Given the description of an element on the screen output the (x, y) to click on. 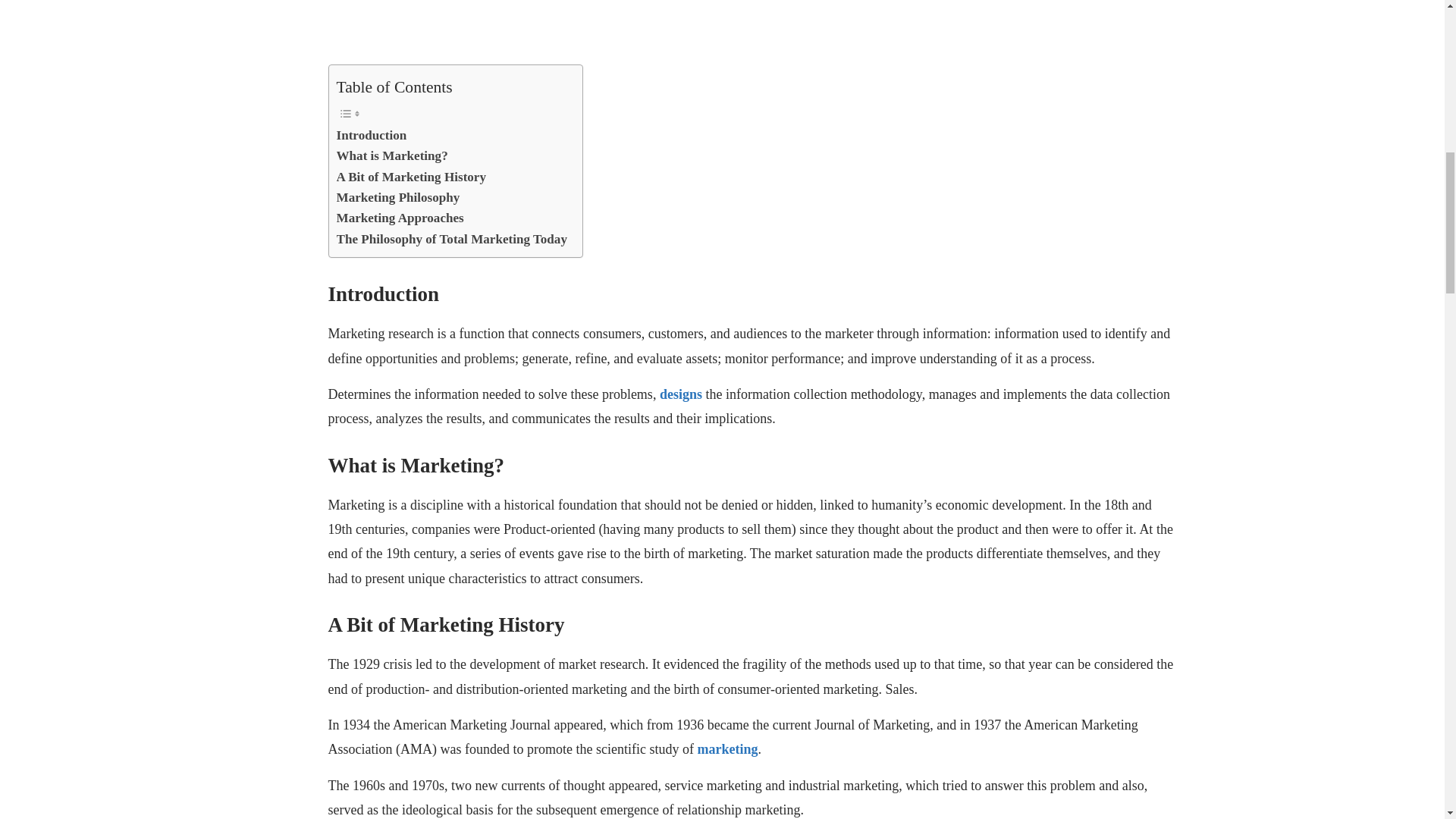
A Bit of Marketing History (411, 177)
Marketing Approaches (400, 218)
What is Marketing? (392, 155)
Marketing Philosophy (398, 197)
Introduction (371, 135)
Marketing Approaches (400, 218)
Introduction (371, 135)
Marketing Philosophy (398, 197)
A Bit of Marketing History (411, 177)
What is Marketing? (392, 155)
